Given the description of an element on the screen output the (x, y) to click on. 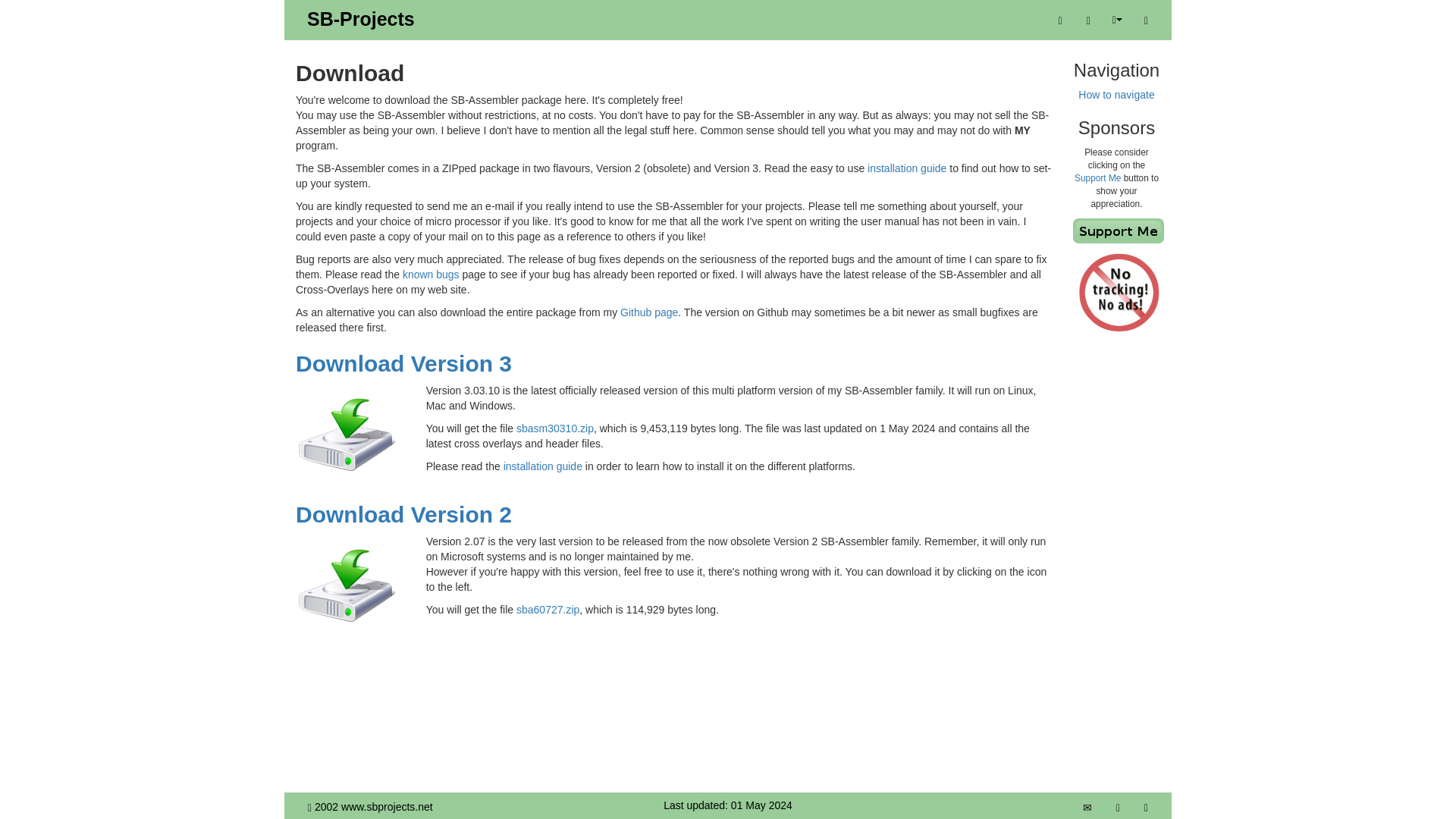
Support Me (1097, 177)
Download Version 3.03.10 (346, 435)
Download Version 2 (403, 514)
Github page (649, 312)
Download Version 3 (403, 363)
installation guide (906, 168)
sbasm30310.zip (555, 428)
sba60727.zip (547, 609)
My home page with my projects. (360, 18)
Download Version 2.07 (346, 586)
